Given the description of an element on the screen output the (x, y) to click on. 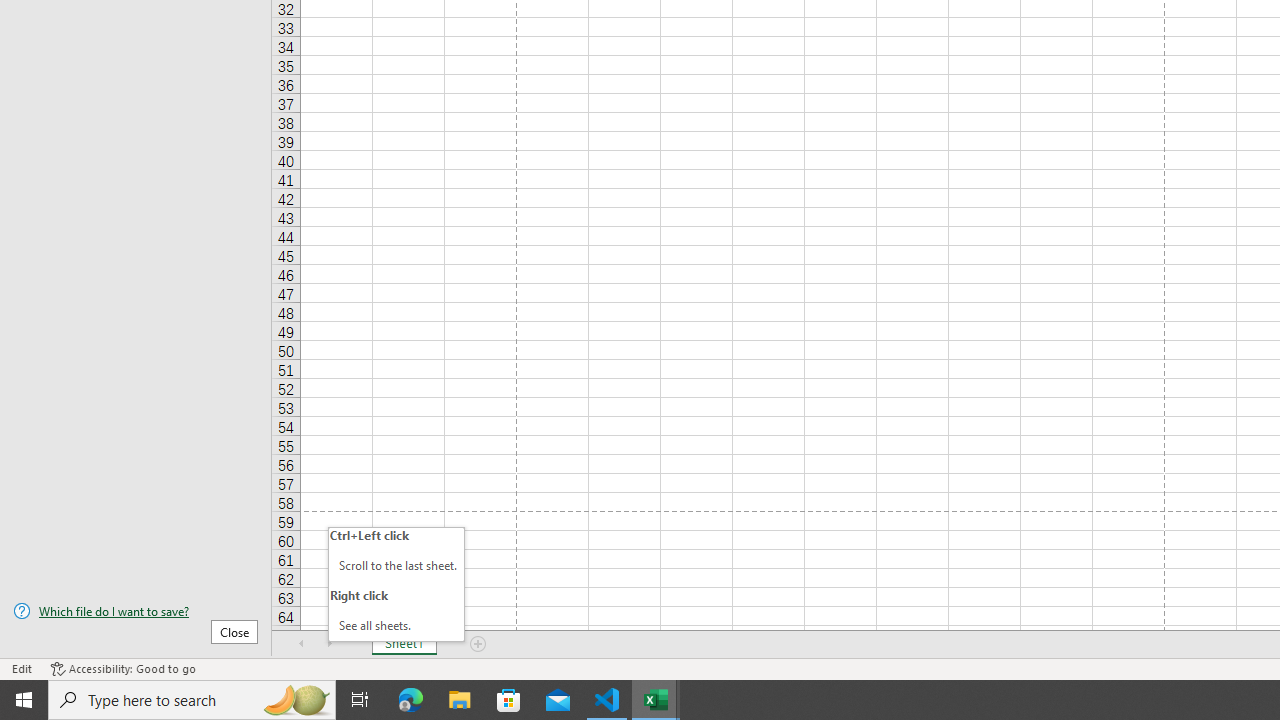
Close (234, 631)
Which file do I want to save? (136, 611)
Add Sheet (478, 644)
Scroll Left (302, 644)
Accessibility Checker Accessibility: Good to go (123, 668)
Sheet1 (404, 644)
Scroll Right (330, 644)
